Given the description of an element on the screen output the (x, y) to click on. 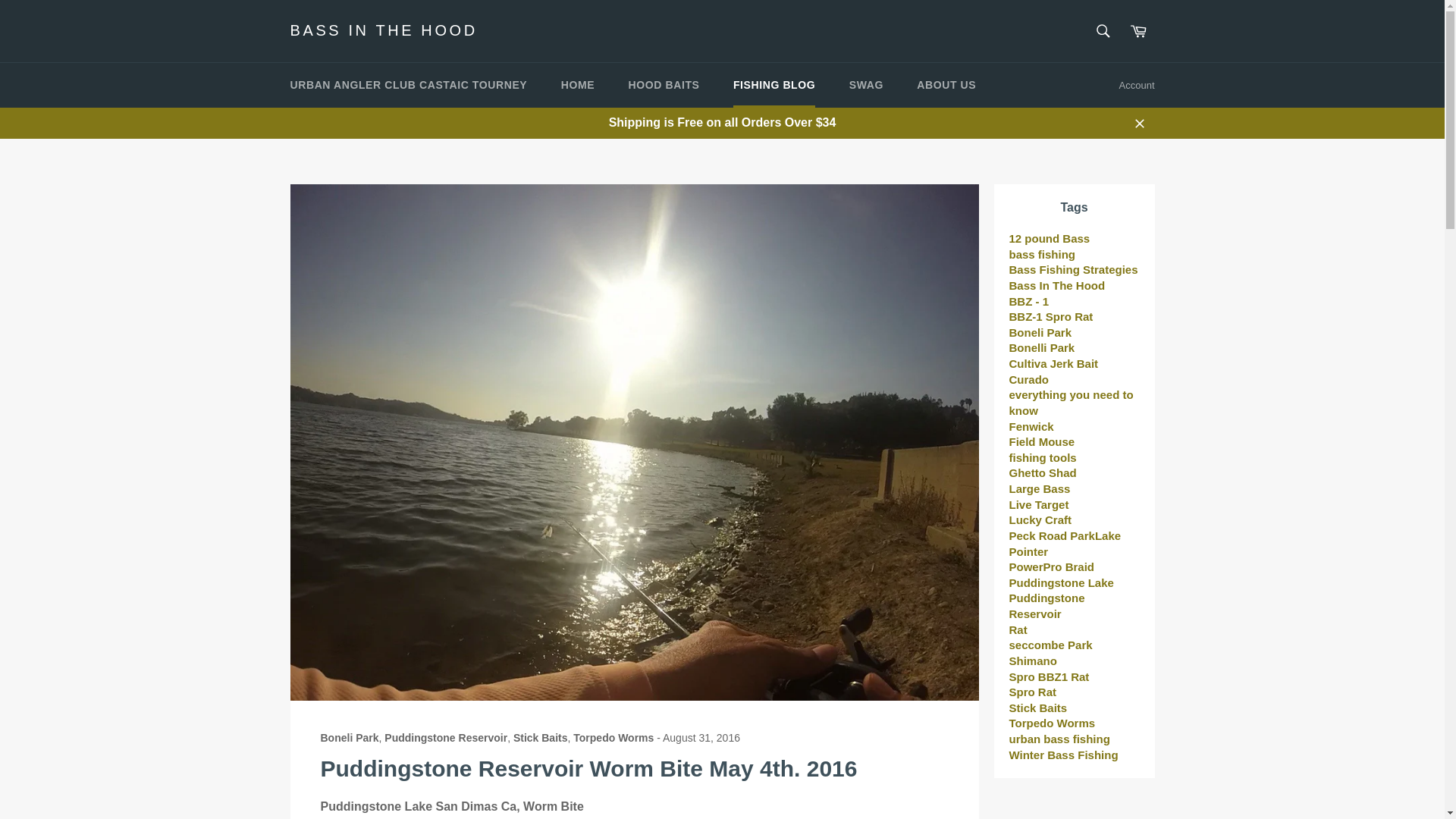
Show articles tagged Boneli Park (1040, 332)
Torpedo Worms (613, 737)
Cart (1138, 30)
HOOD BAITS (663, 85)
Show articles tagged Cultiva Jerk Bait (1053, 363)
Show articles tagged 12 pound Bass (1049, 237)
Show articles tagged BBZ-1 Spro Rat (1051, 316)
BASS IN THE HOOD (383, 30)
Show articles tagged Bass In The Hood (1057, 285)
ABOUT US (946, 85)
